Given the description of an element on the screen output the (x, y) to click on. 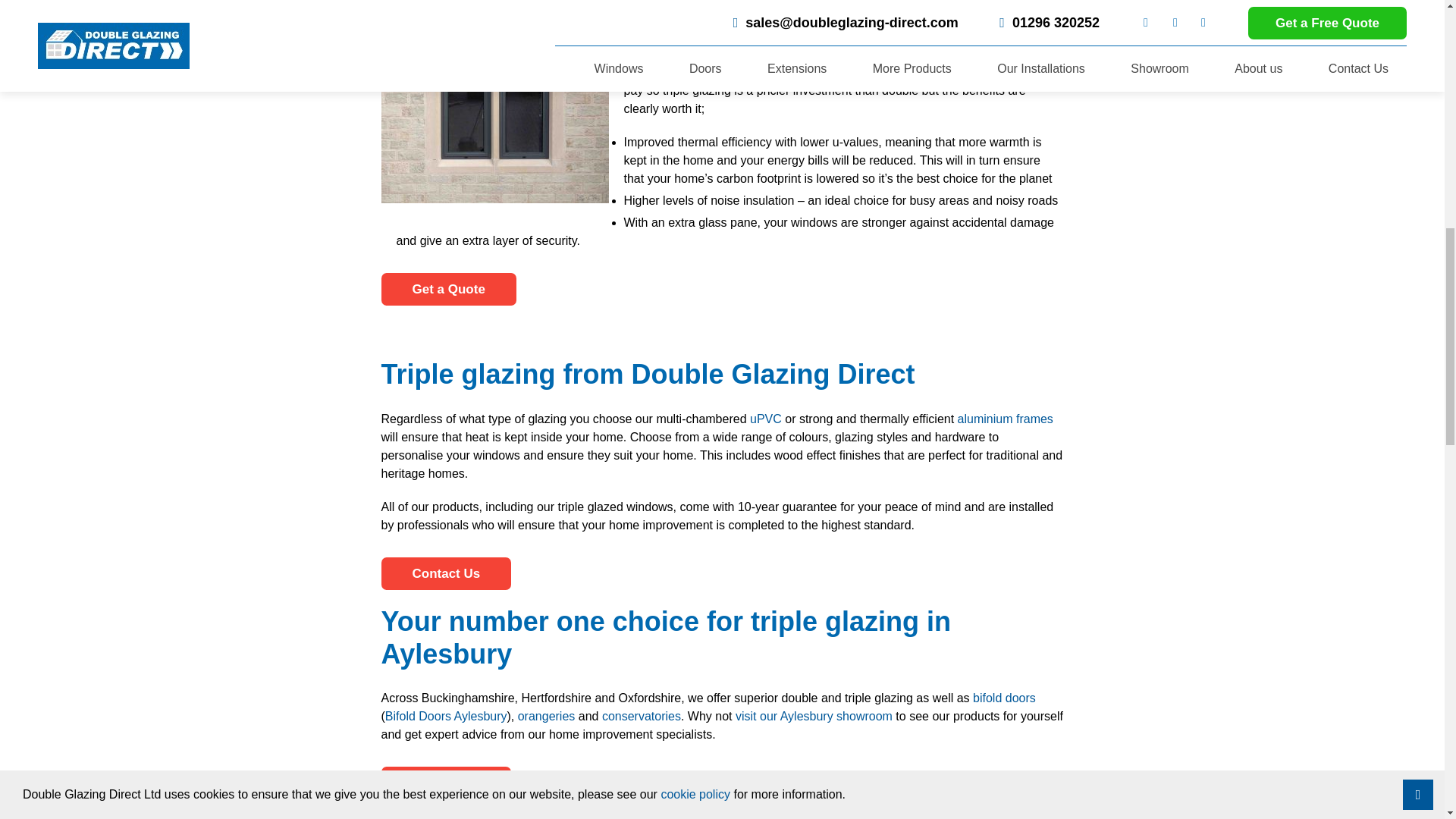
Contact Us (447, 288)
Contact Us (445, 573)
Get in touch (445, 782)
